Given the description of an element on the screen output the (x, y) to click on. 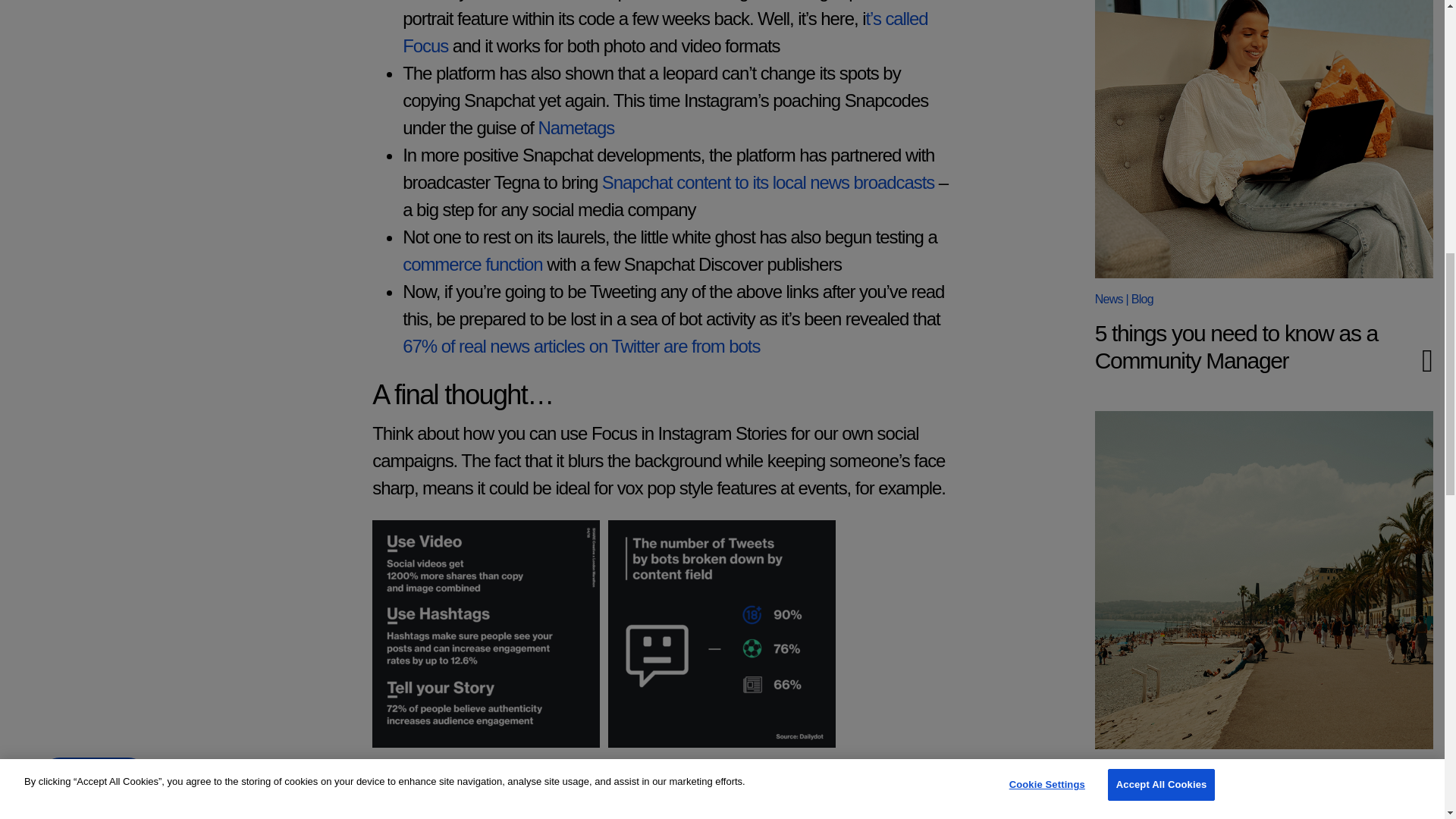
5 things you need to know as a Community Manager (1235, 347)
Cannes Lions 2024: Key Learnings and Memorable Moments (1263, 580)
Blog (1142, 298)
Nametags (576, 127)
5 things you need to know as a Community Manager (1263, 139)
Snapchat content to its local news broadcasts (768, 181)
commerce function (472, 263)
Cannes Lions 2024: Key Learnings and Memorable Moments (1215, 805)
Cannes Lions 2024: Key Learnings and Memorable Moments (1215, 805)
Blog (1142, 769)
